Given the description of an element on the screen output the (x, y) to click on. 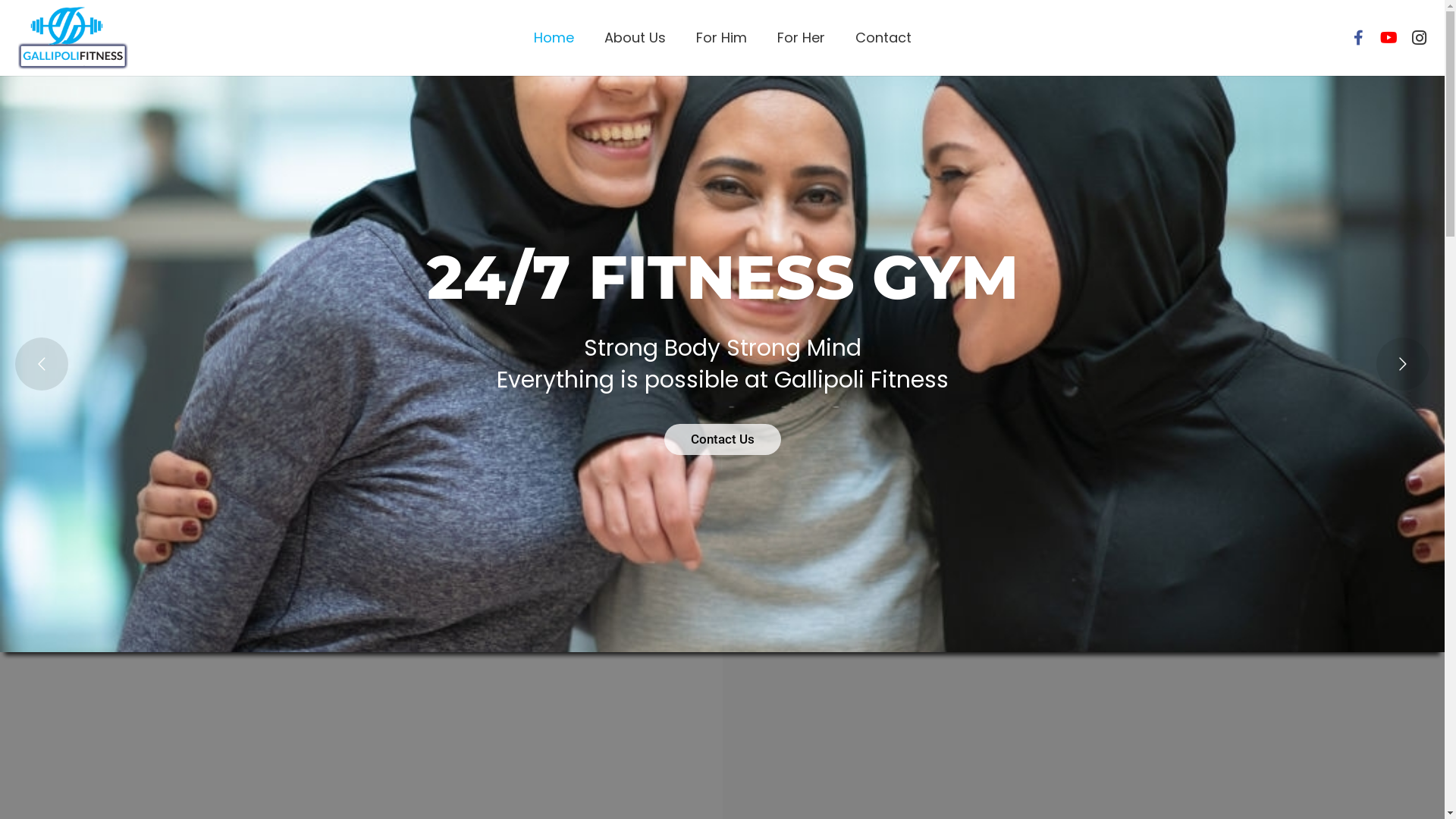
For Him Element type: text (721, 37)
Home Element type: text (553, 37)
For Her Element type: text (800, 37)
About Us Element type: text (634, 37)
Facebook Element type: hover (1358, 37)
Instagram Element type: hover (1418, 37)
YouTube Element type: hover (1388, 37)
Contact Element type: text (883, 37)
